Given the description of an element on the screen output the (x, y) to click on. 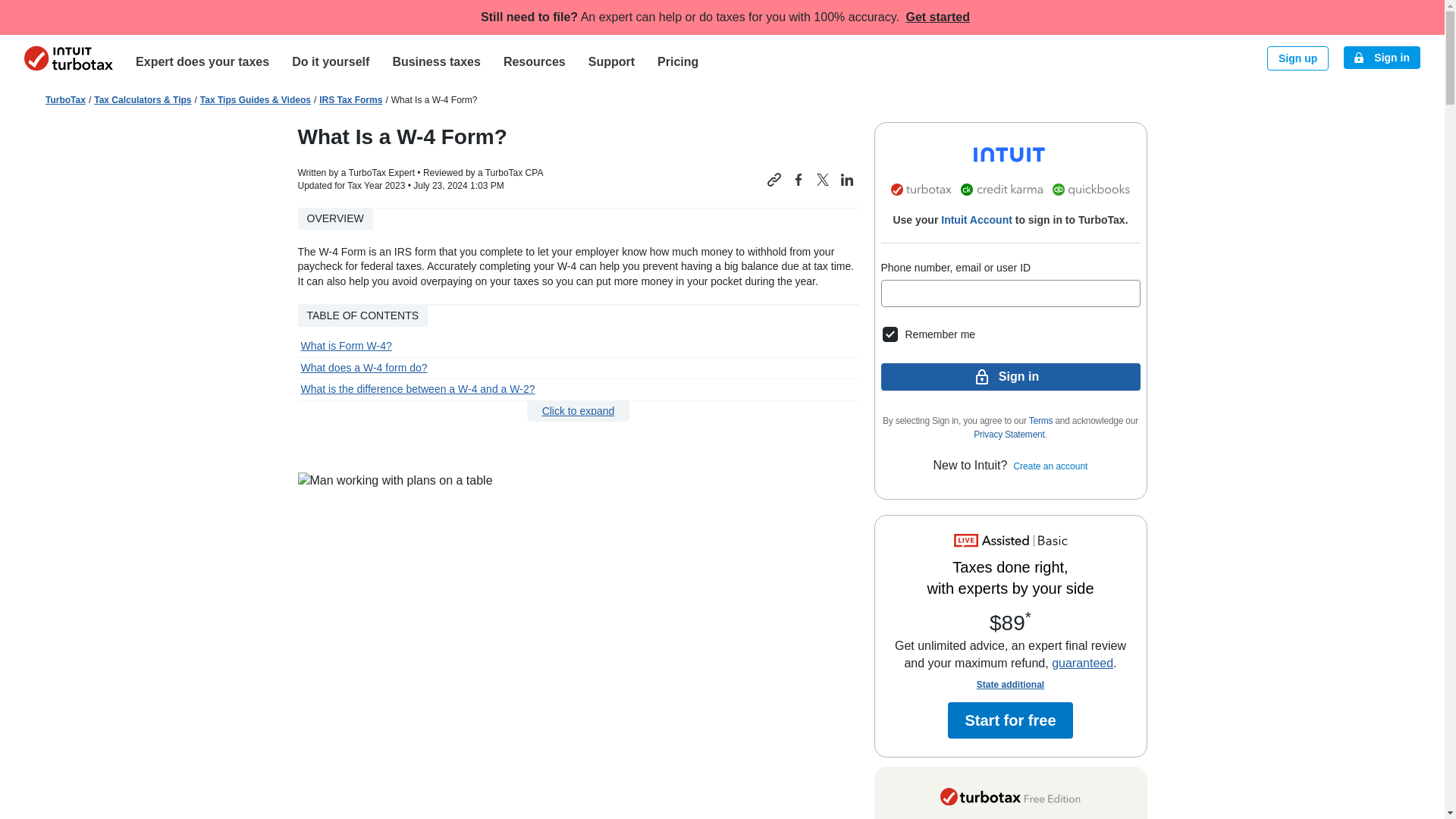
Copy link to this article (773, 179)
Expert does your taxes (202, 60)
Share this article on Facebook (797, 179)
Do it yourself (330, 60)
Business taxes (436, 60)
Share this article on LinkedIn (846, 179)
Resources (534, 60)
Share this article on X (821, 179)
